Given the description of an element on the screen output the (x, y) to click on. 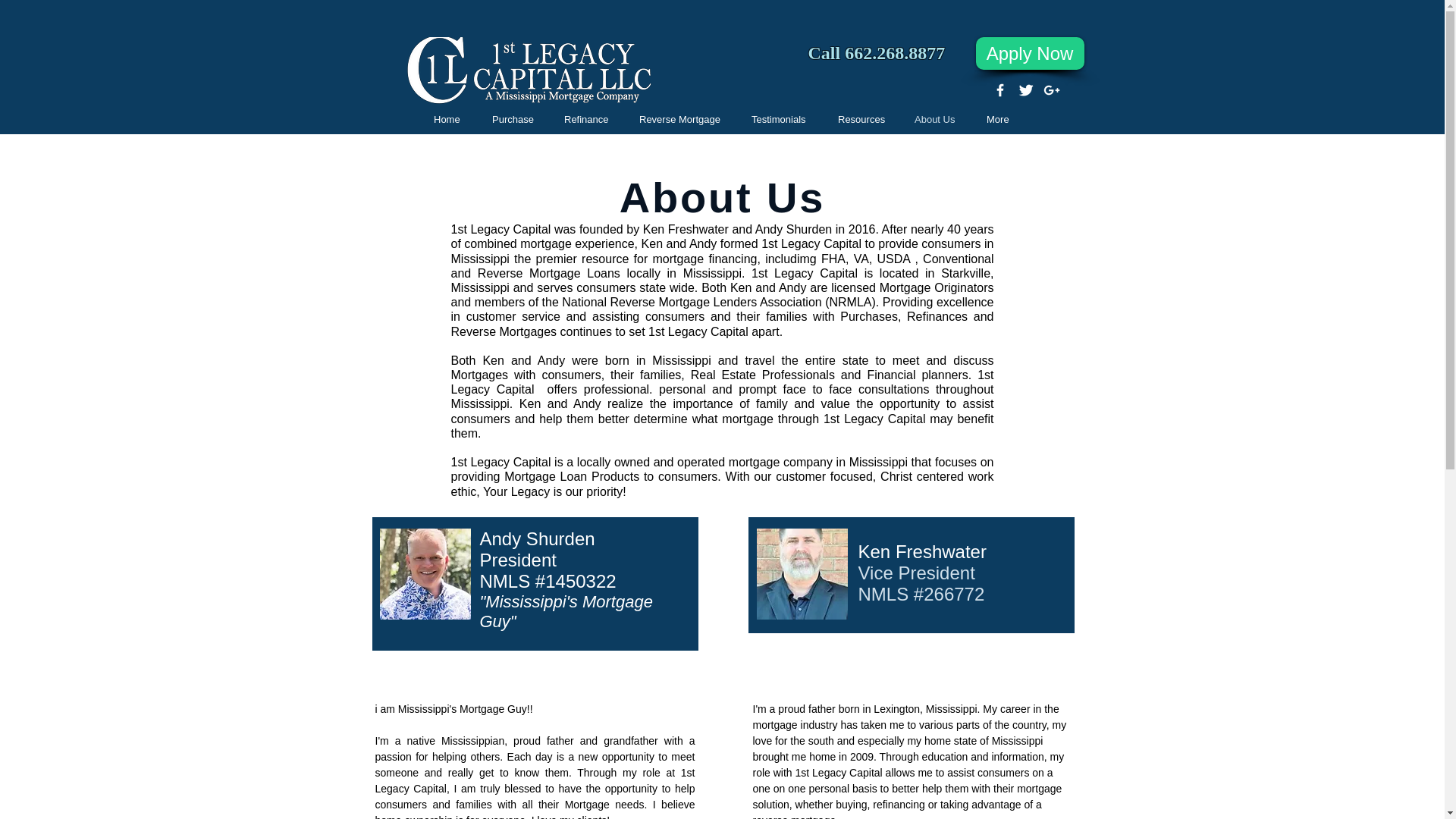
1LC AMMC WHITE.png (531, 73)
Home (448, 119)
Apply Now (1029, 52)
Purchase (512, 119)
Testimonials (779, 119)
Refinance (586, 119)
About Us (935, 119)
ken.jpg (802, 573)
